Given the description of an element on the screen output the (x, y) to click on. 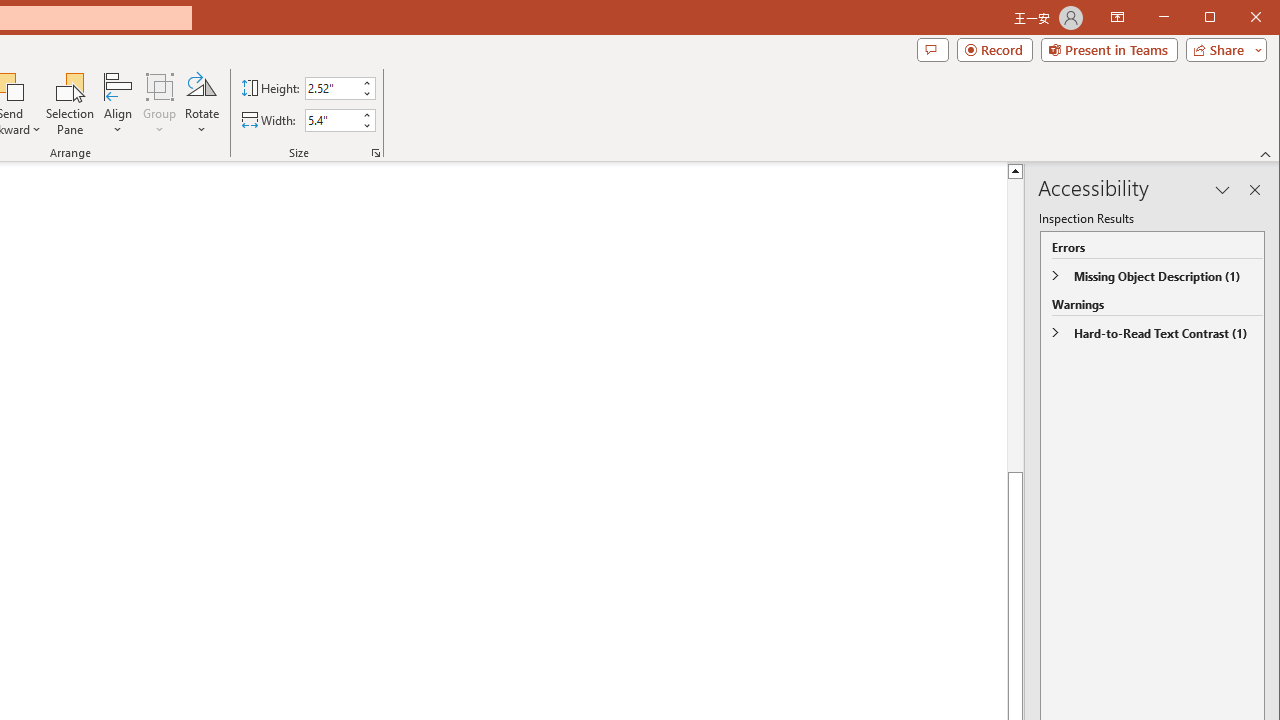
Align (118, 104)
Shape Height (331, 88)
